Given the description of an element on the screen output the (x, y) to click on. 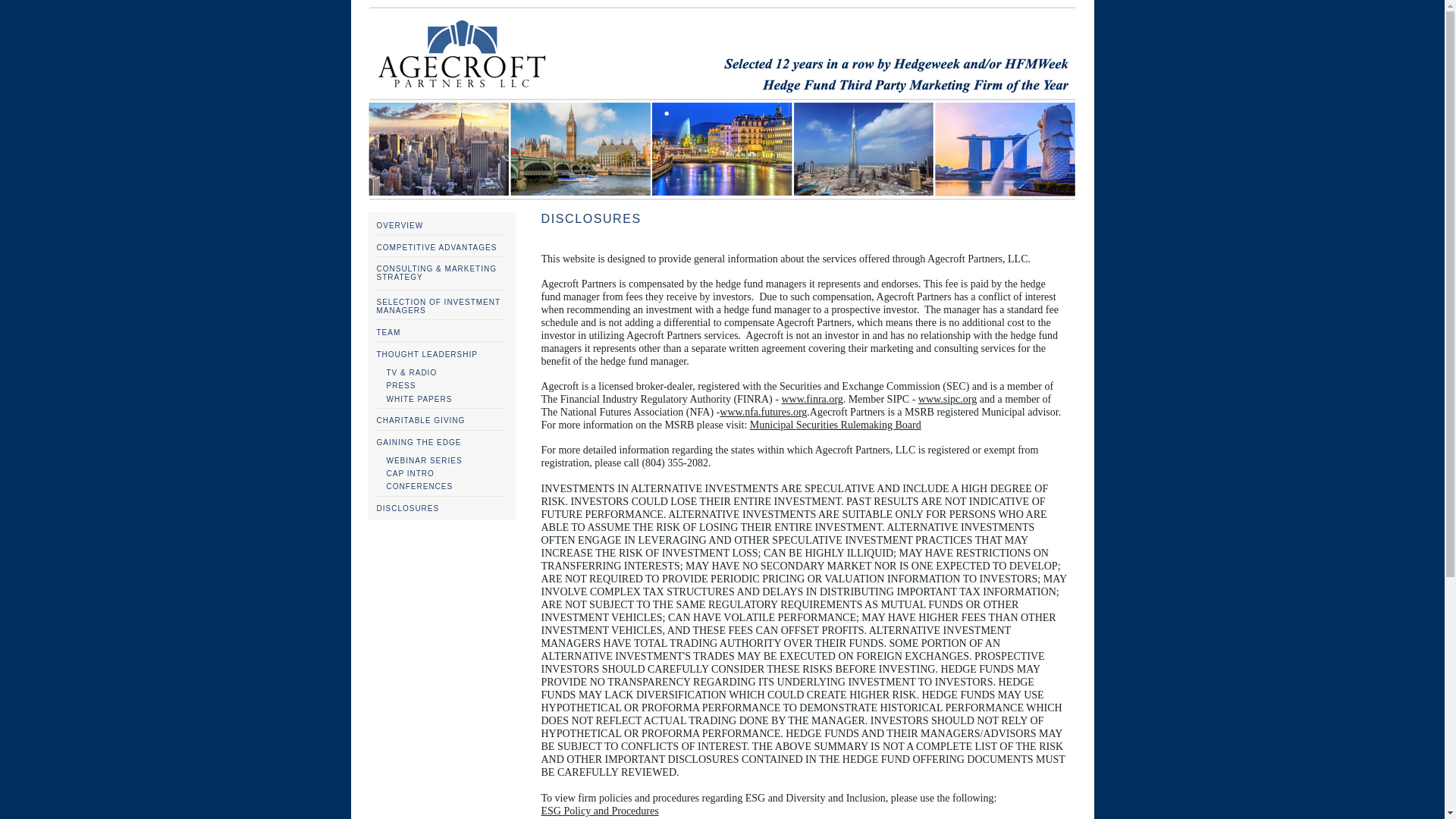
WHITE PAPERS (419, 398)
www.nfa.futures.org (762, 411)
MANAGERS (400, 310)
SELECTION OF INVESTMENT (437, 302)
PRESS (401, 385)
ESG Policy and Procedures (600, 810)
WEBINAR SERIES  (426, 460)
OVERVIEW (399, 225)
www.finra.org (811, 398)
DISCLOSURES (407, 508)
